Given the description of an element on the screen output the (x, y) to click on. 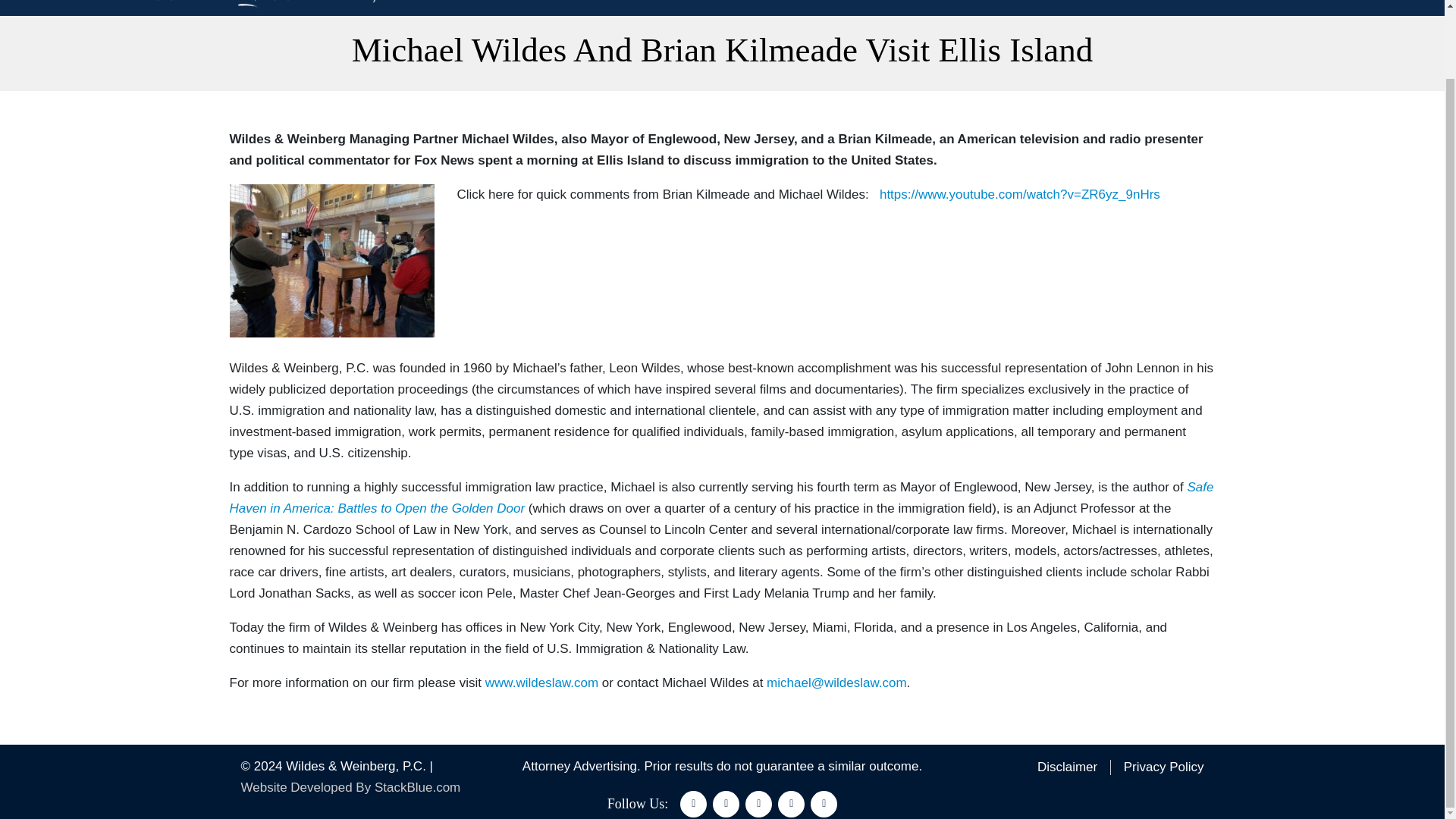
twitter (726, 804)
Home (918, 2)
Services (1100, 2)
About Us (974, 2)
instagram (791, 804)
Attorneys (1038, 2)
linkedin (758, 804)
facebook (692, 804)
youtube (823, 804)
